Given the description of an element on the screen output the (x, y) to click on. 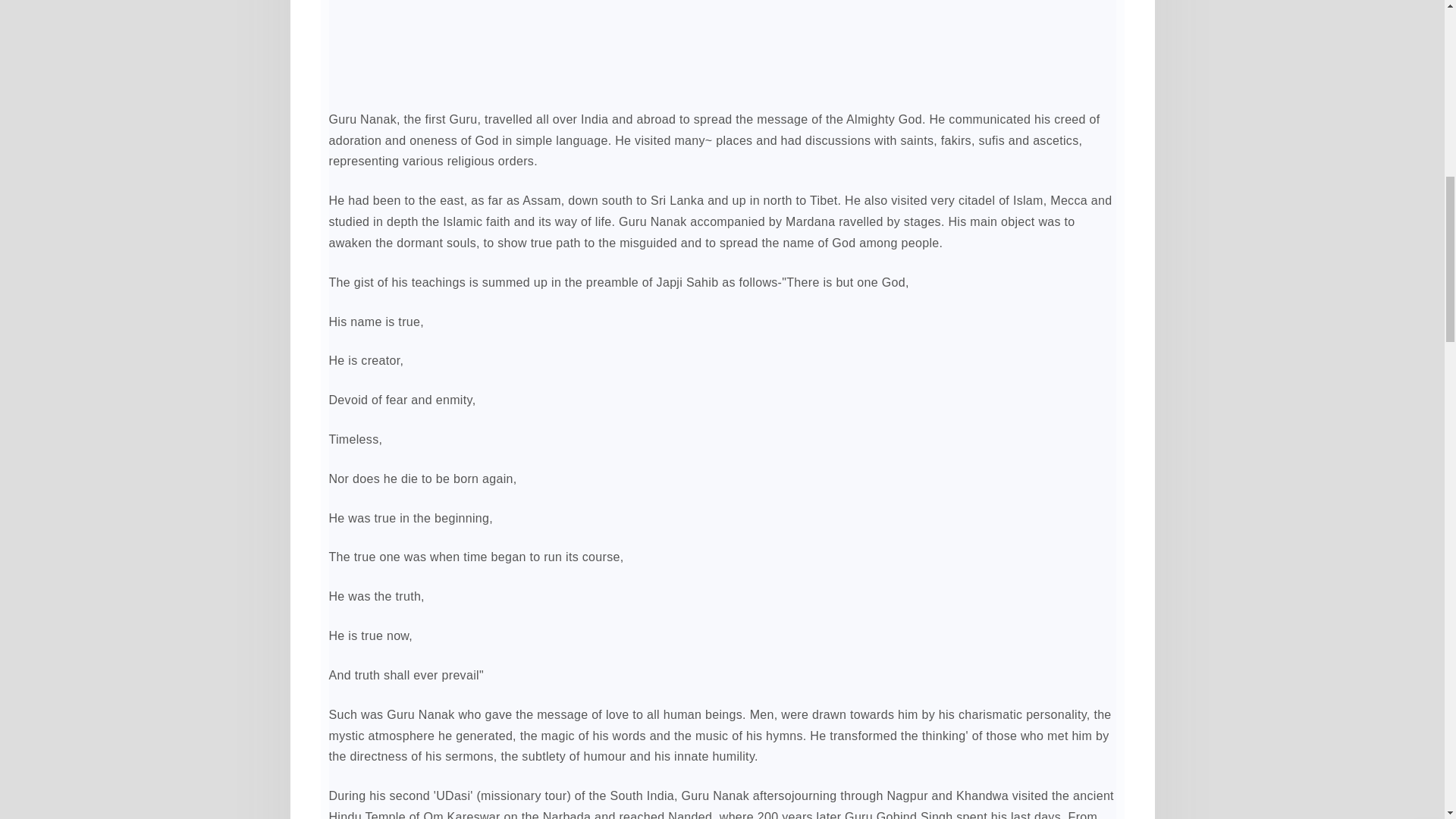
GURUDWARA NANAK JHIRA - BIDAR (721, 45)
